Given the description of an element on the screen output the (x, y) to click on. 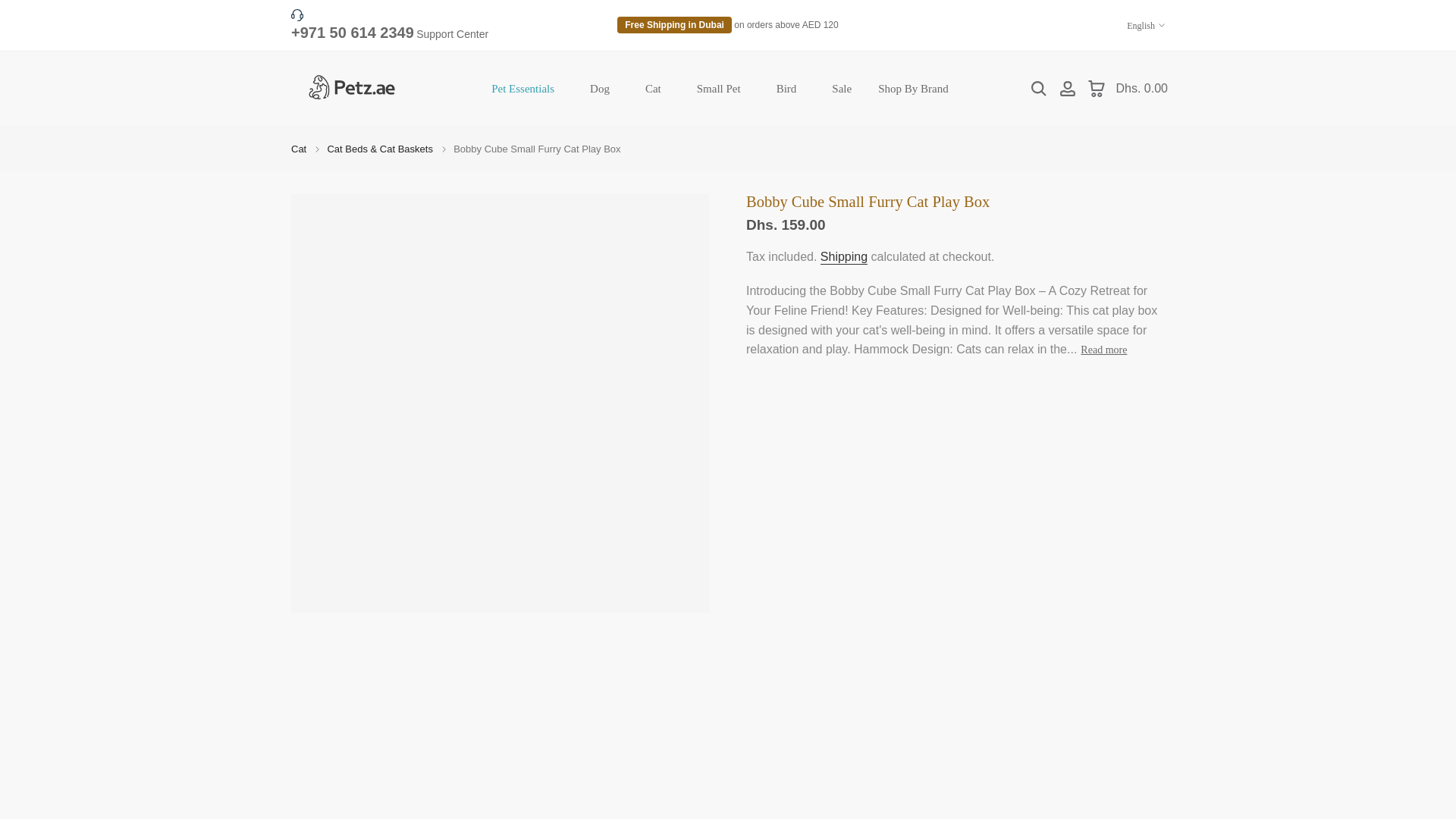
Pet Essentials (527, 88)
Read more (1103, 350)
English (1145, 25)
Small Pet (722, 88)
Bobby Cube Small Furry Cat Play Box (536, 149)
Dhs. 0.00 (1127, 88)
Shipping (844, 257)
Dog (603, 88)
Cat (298, 149)
Shop By Brand (913, 88)
Bird (790, 88)
Skip to content (10, 7)
Cat (656, 88)
Sale (841, 88)
